Given the description of an element on the screen output the (x, y) to click on. 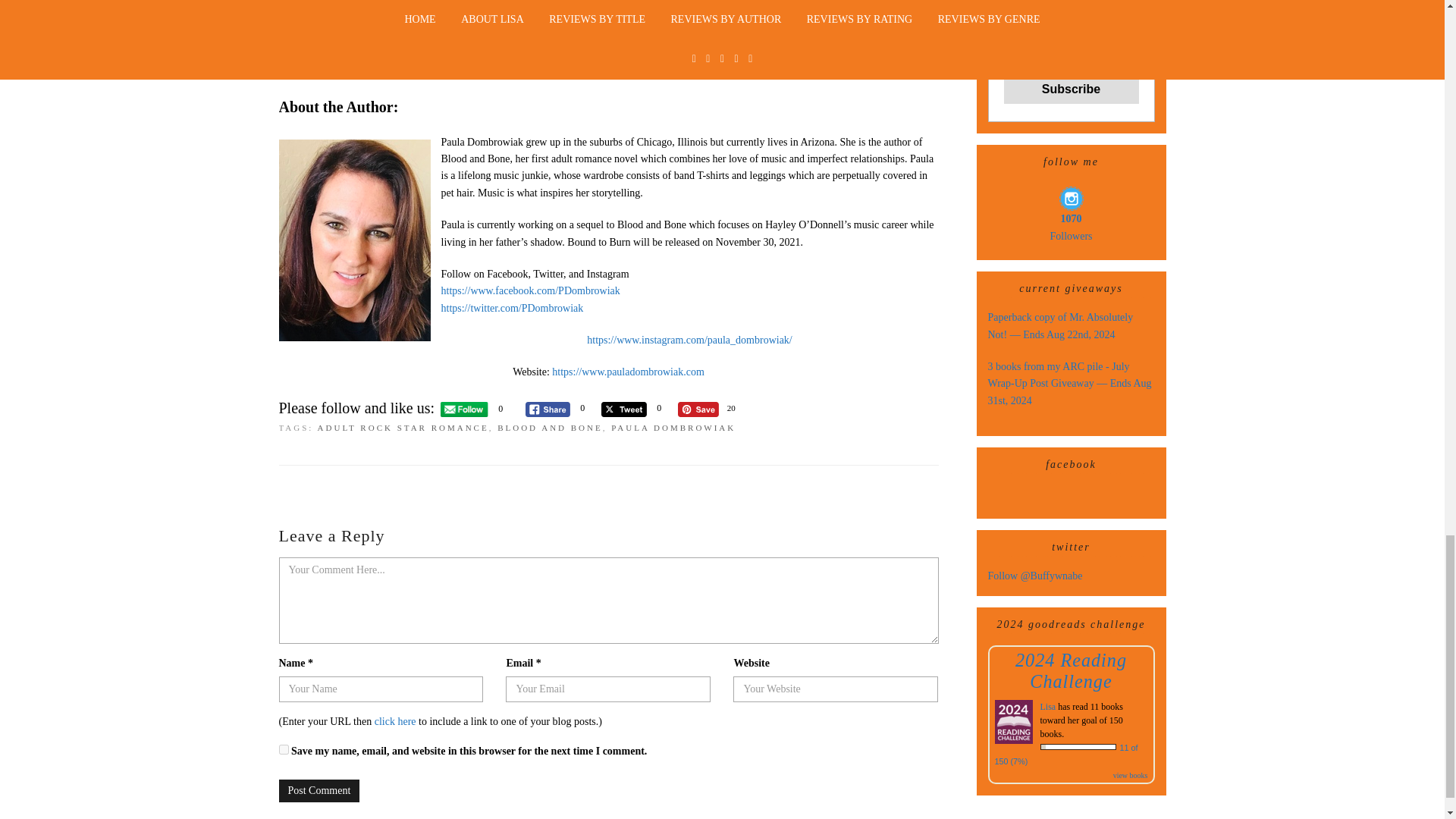
Subscribe (1071, 89)
Kobo (608, 70)
Pin Share (698, 409)
Post Comment (319, 790)
Tweet (623, 409)
PAULA DOMBROWIAK (673, 427)
Subscribe (1071, 89)
ADULT ROCK STAR ROMANCE (403, 427)
Facebook Share (547, 409)
Post Comment (319, 790)
